Given the description of an element on the screen output the (x, y) to click on. 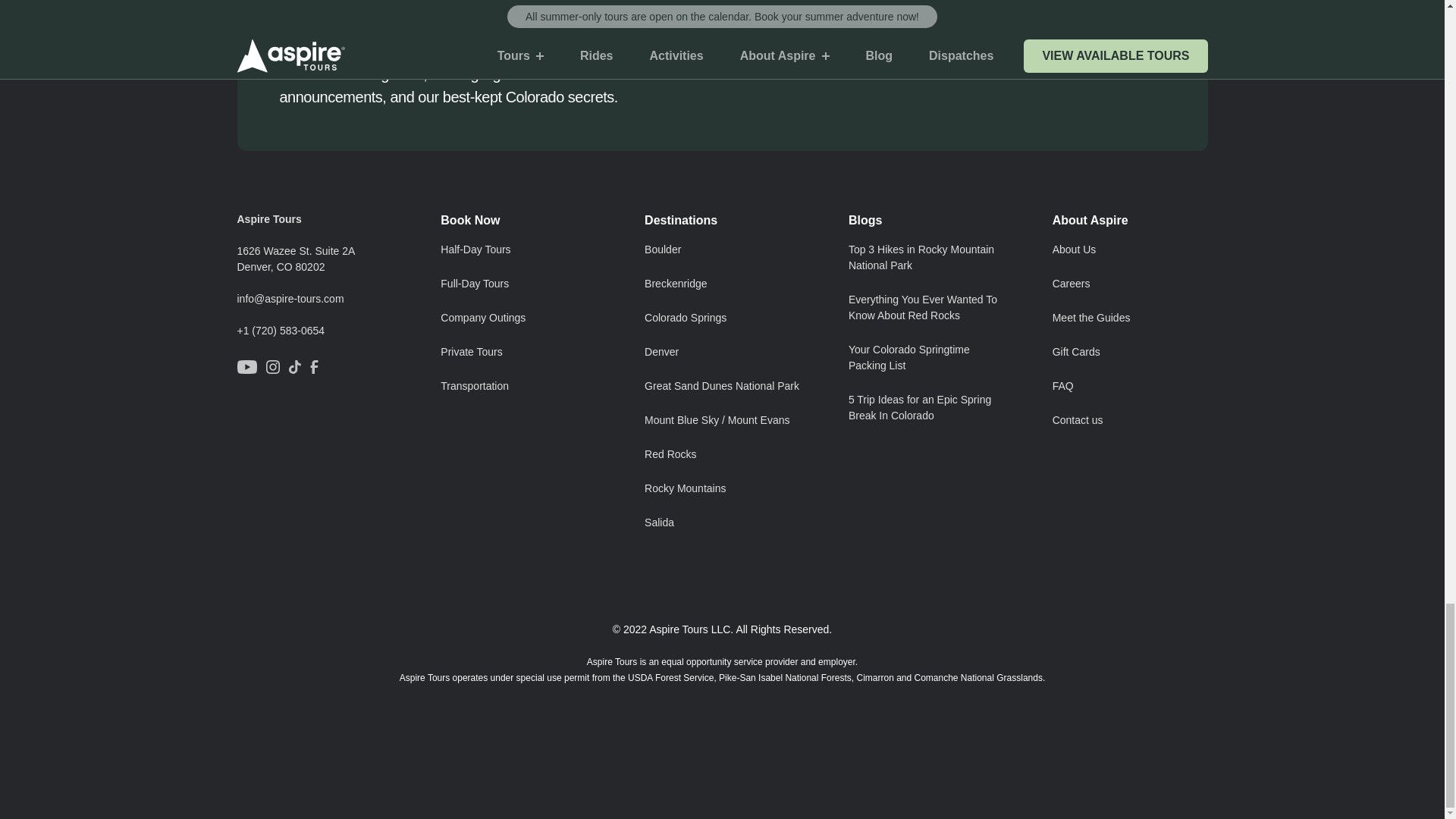
subscribe (1106, 47)
